Given the description of an element on the screen output the (x, y) to click on. 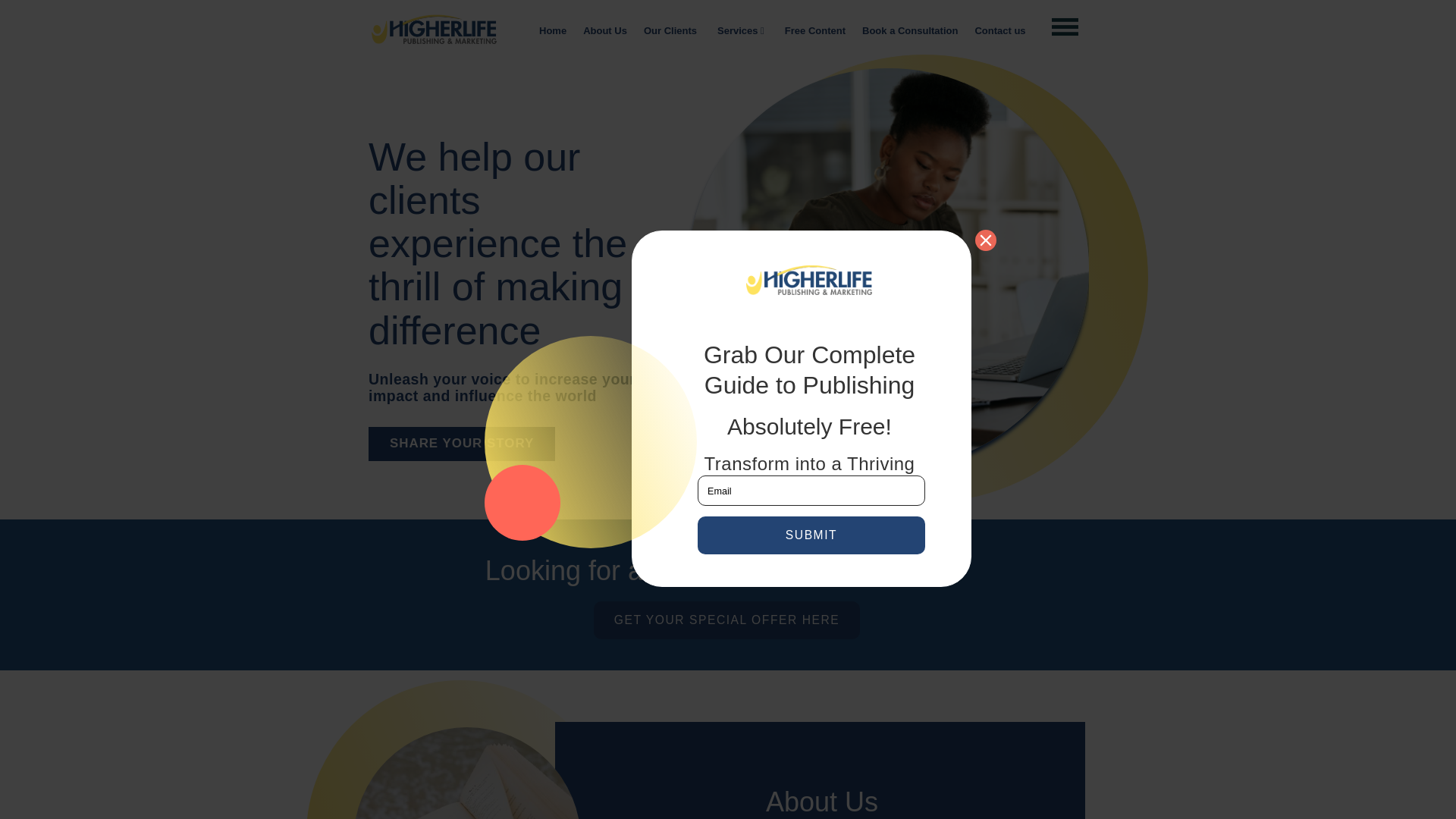
GET YOUR SPECIAL OFFER HERE (727, 620)
Free Content (814, 31)
SHARE YOUR STORY (524, 436)
SHARE YOUR STORY (461, 443)
Services (740, 31)
Our Clients (669, 31)
Book a Consultation (909, 31)
Abrir Menu (1064, 26)
About Us (604, 31)
Home (553, 31)
Contact us (999, 31)
